Given the description of an element on the screen output the (x, y) to click on. 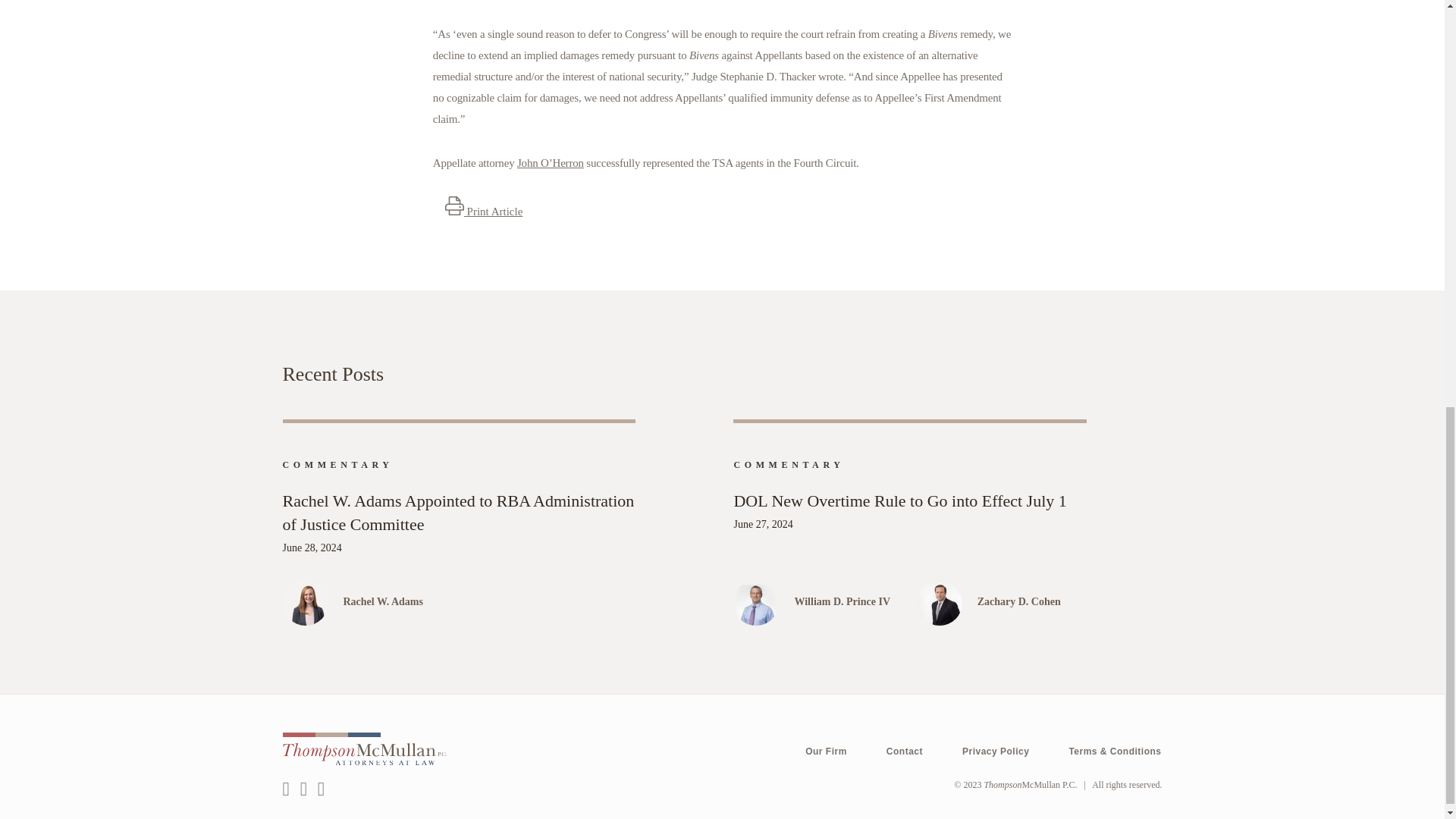
Print Article (483, 211)
DOL New Overtime Rule to Go into Effect July 1 (909, 502)
William D. Prince IV (854, 601)
Rachel W. Adams (488, 601)
Go to Homepage (1030, 784)
Our Firm (826, 752)
COMMENTARY (788, 464)
COMMENTARY (337, 464)
Zachary D. Cohen (1031, 601)
